Given the description of an element on the screen output the (x, y) to click on. 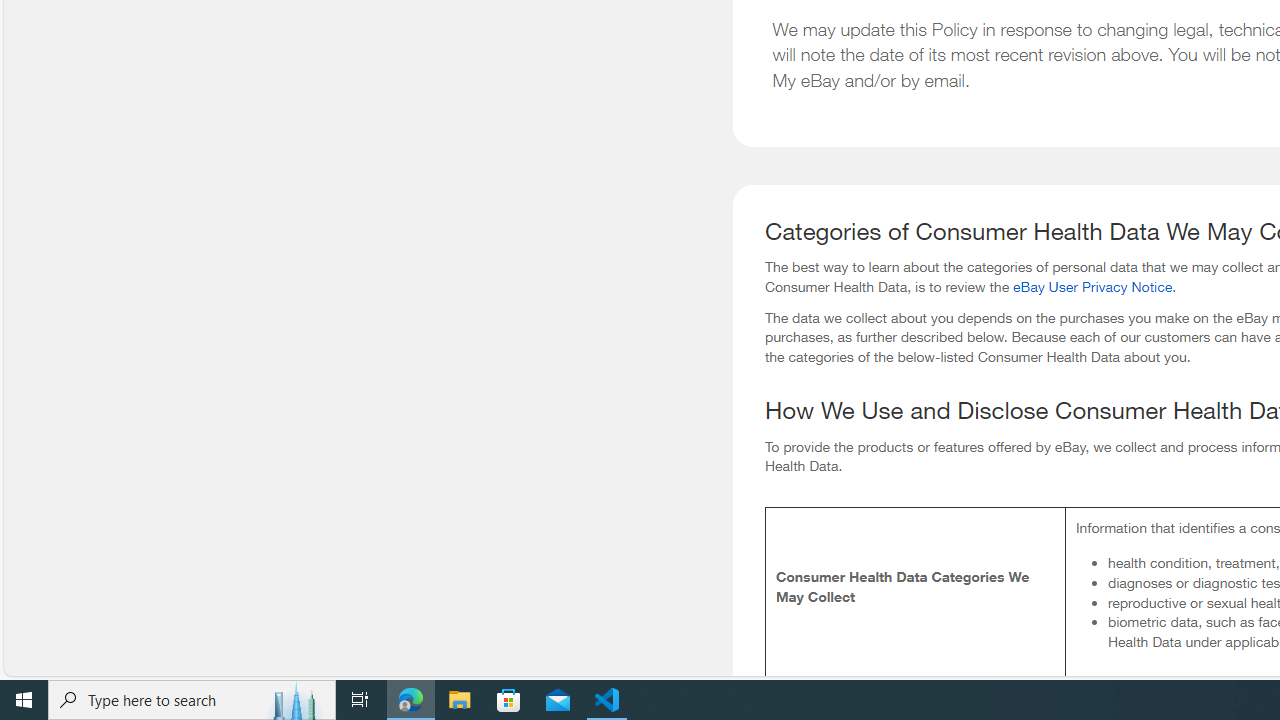
eBay User Privacy Notice (1092, 286)
